Given the description of an element on the screen output the (x, y) to click on. 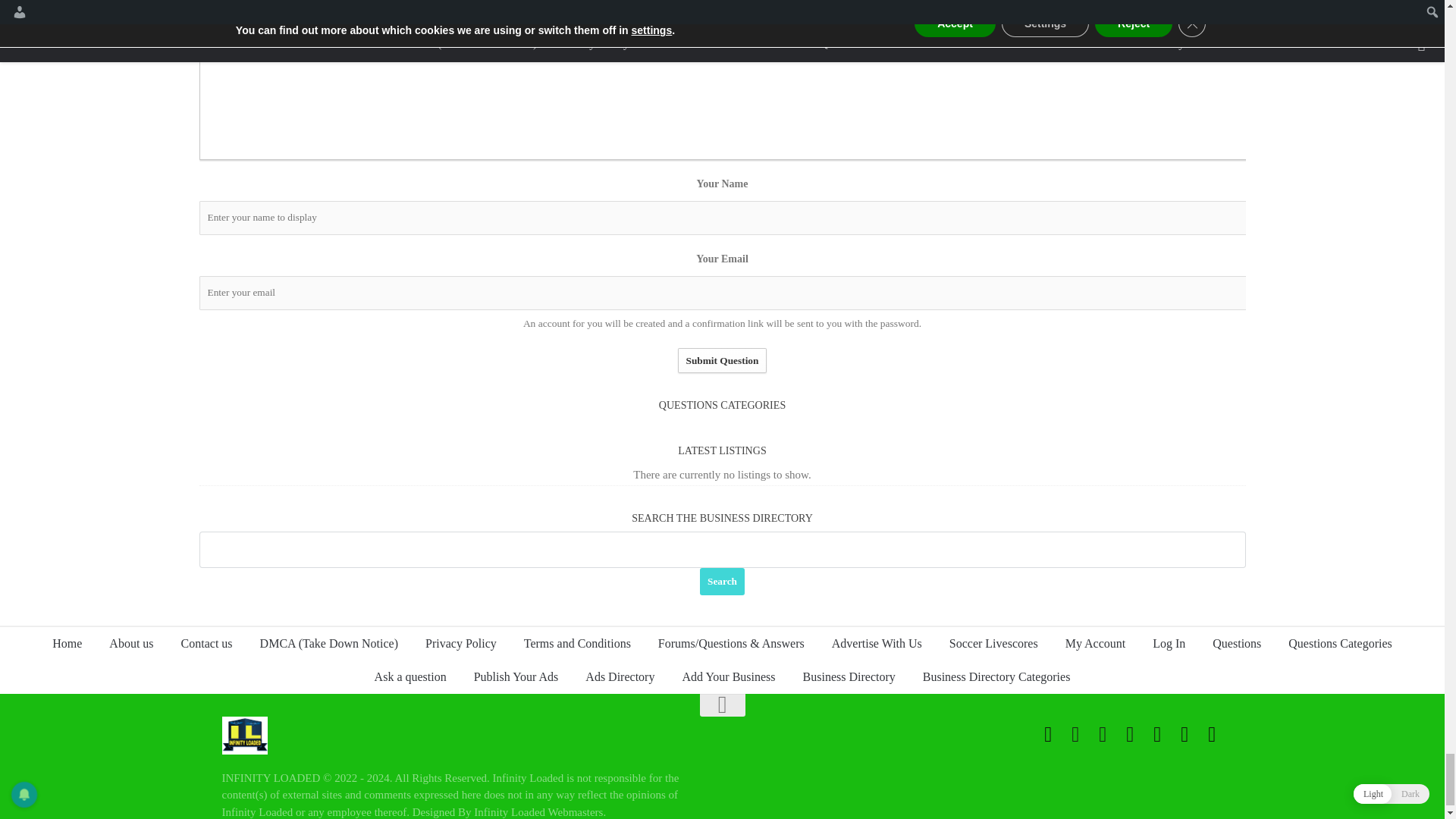
Search (722, 581)
Search (722, 581)
